Given the description of an element on the screen output the (x, y) to click on. 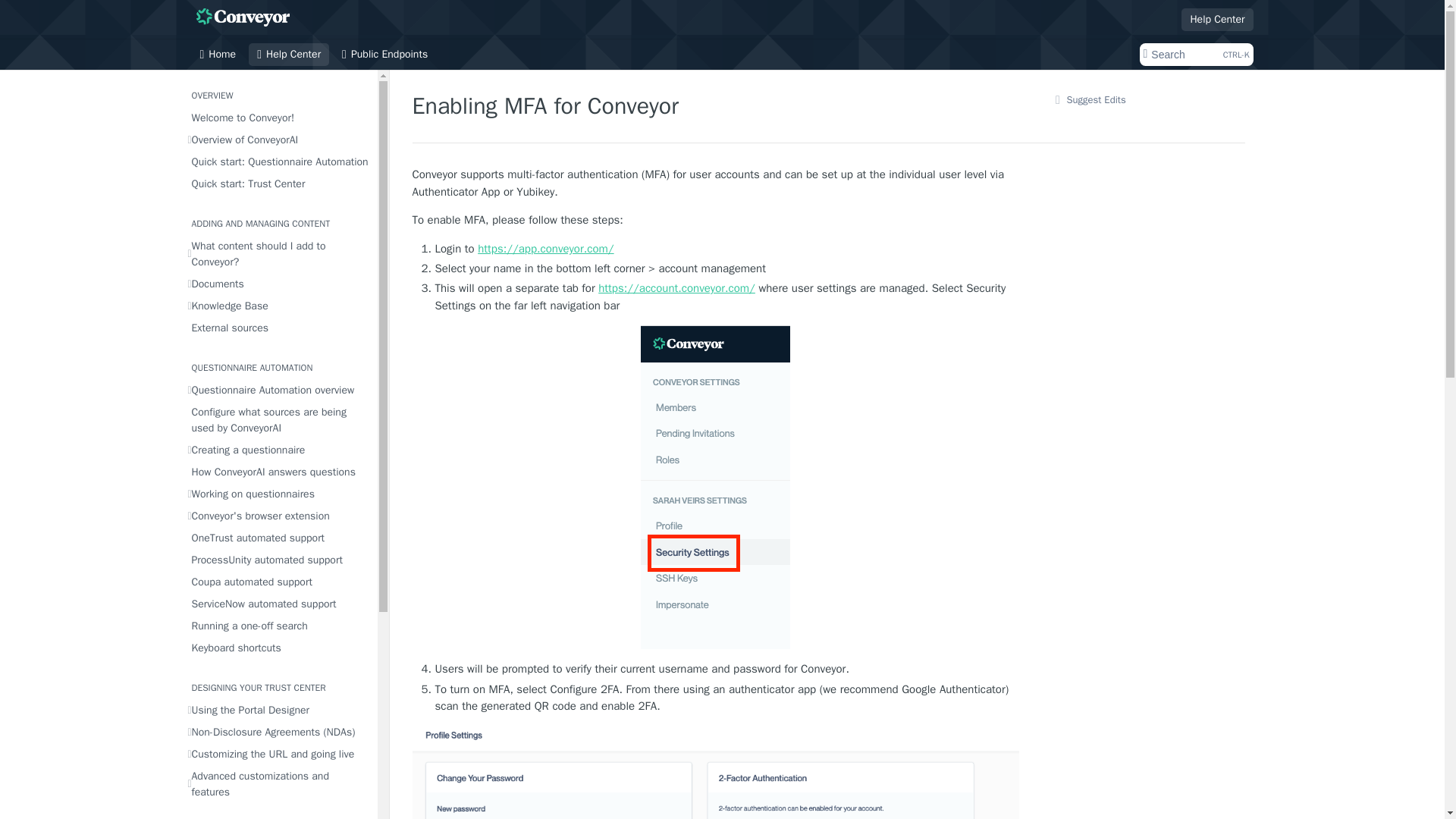
Documents (277, 283)
Home (217, 54)
Public Endpoints (384, 54)
Welcome to Conveyor! (277, 117)
What content should I add to Conveyor? (277, 253)
Help Center (1216, 18)
Quick start: Questionnaire Automation (277, 161)
Help Center (288, 54)
Screen Shot 2022-01-13 at 10.15.57 AM.png (715, 772)
Overview of ConveyorAI (277, 139)
